Given the description of an element on the screen output the (x, y) to click on. 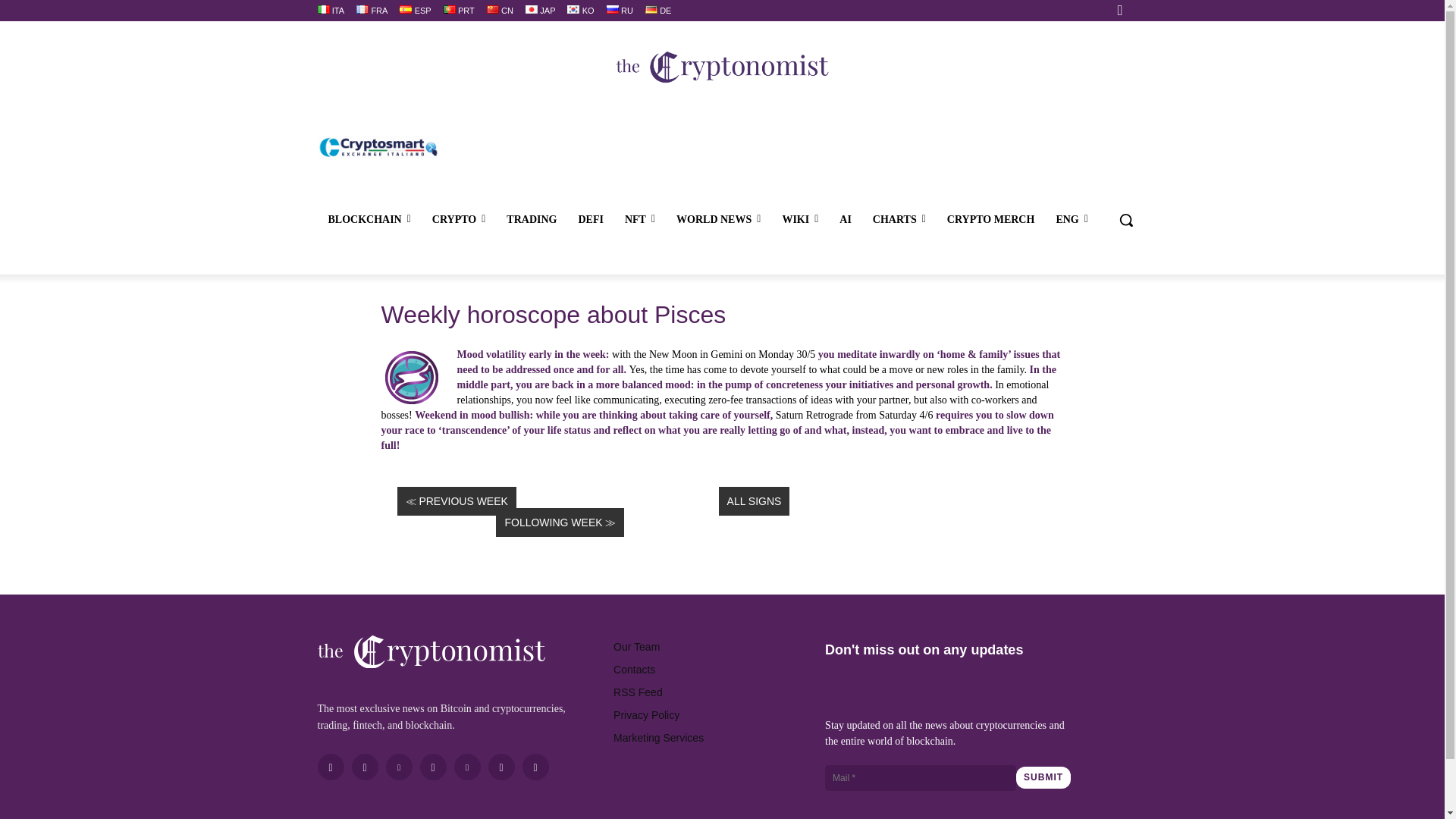
Linkedin (398, 766)
Youtube (501, 766)
Instagram (365, 766)
Twitter (466, 766)
Threads (534, 766)
Telegram (433, 766)
Facebook (330, 766)
